Given the description of an element on the screen output the (x, y) to click on. 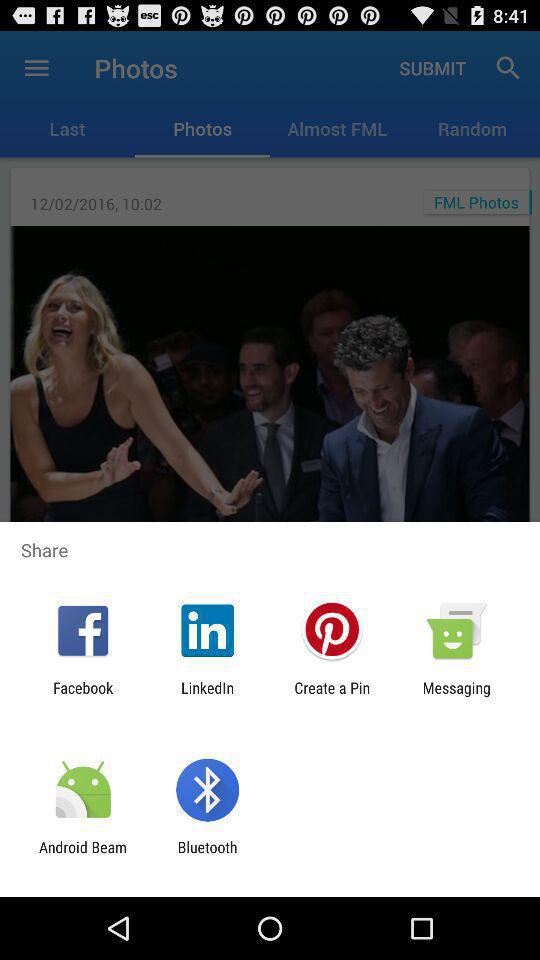
open android beam app (83, 856)
